Given the description of an element on the screen output the (x, y) to click on. 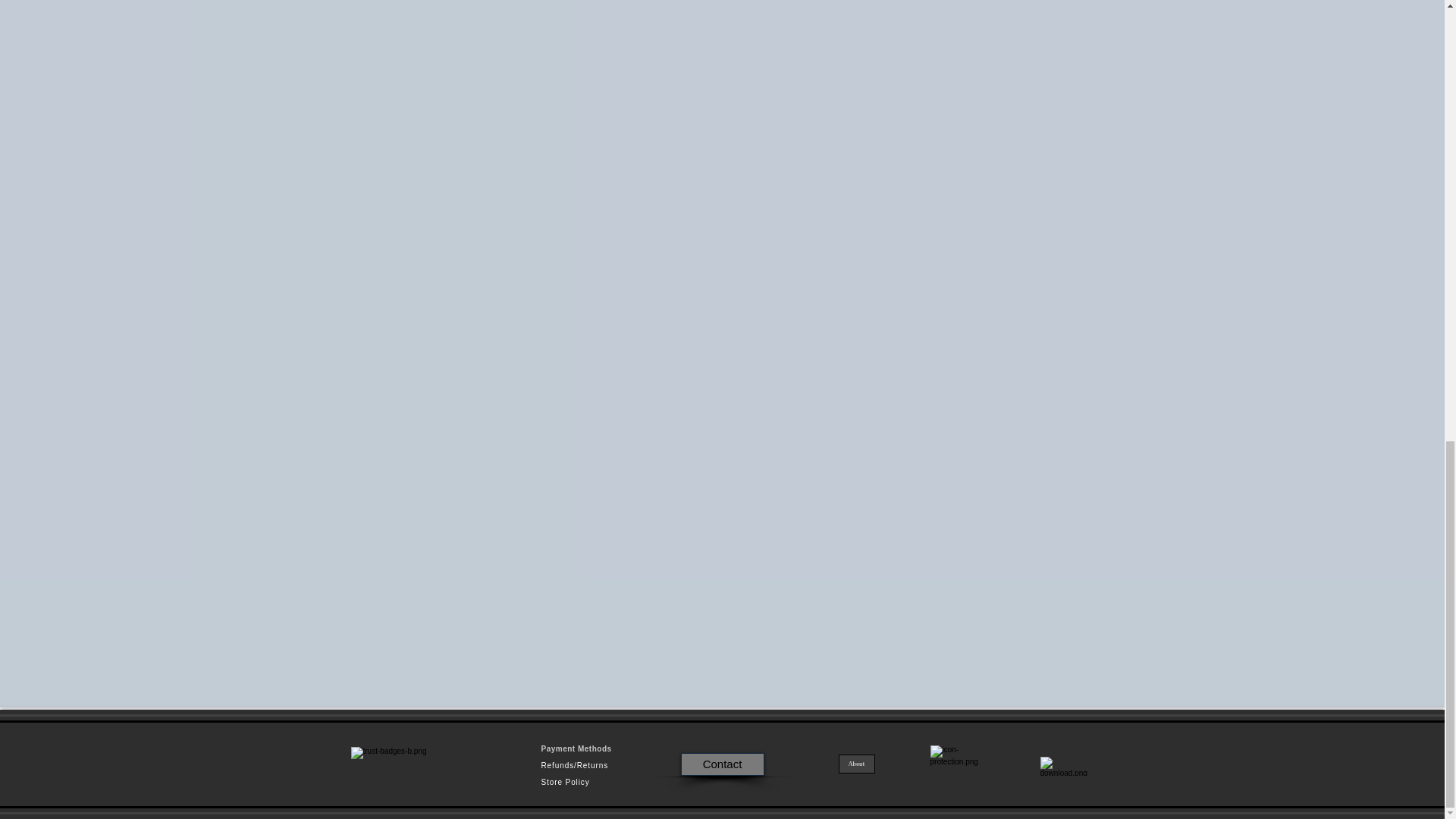
Payment Methods (576, 748)
Store Policy (565, 782)
Contact (722, 763)
About (856, 763)
